Given the description of an element on the screen output the (x, y) to click on. 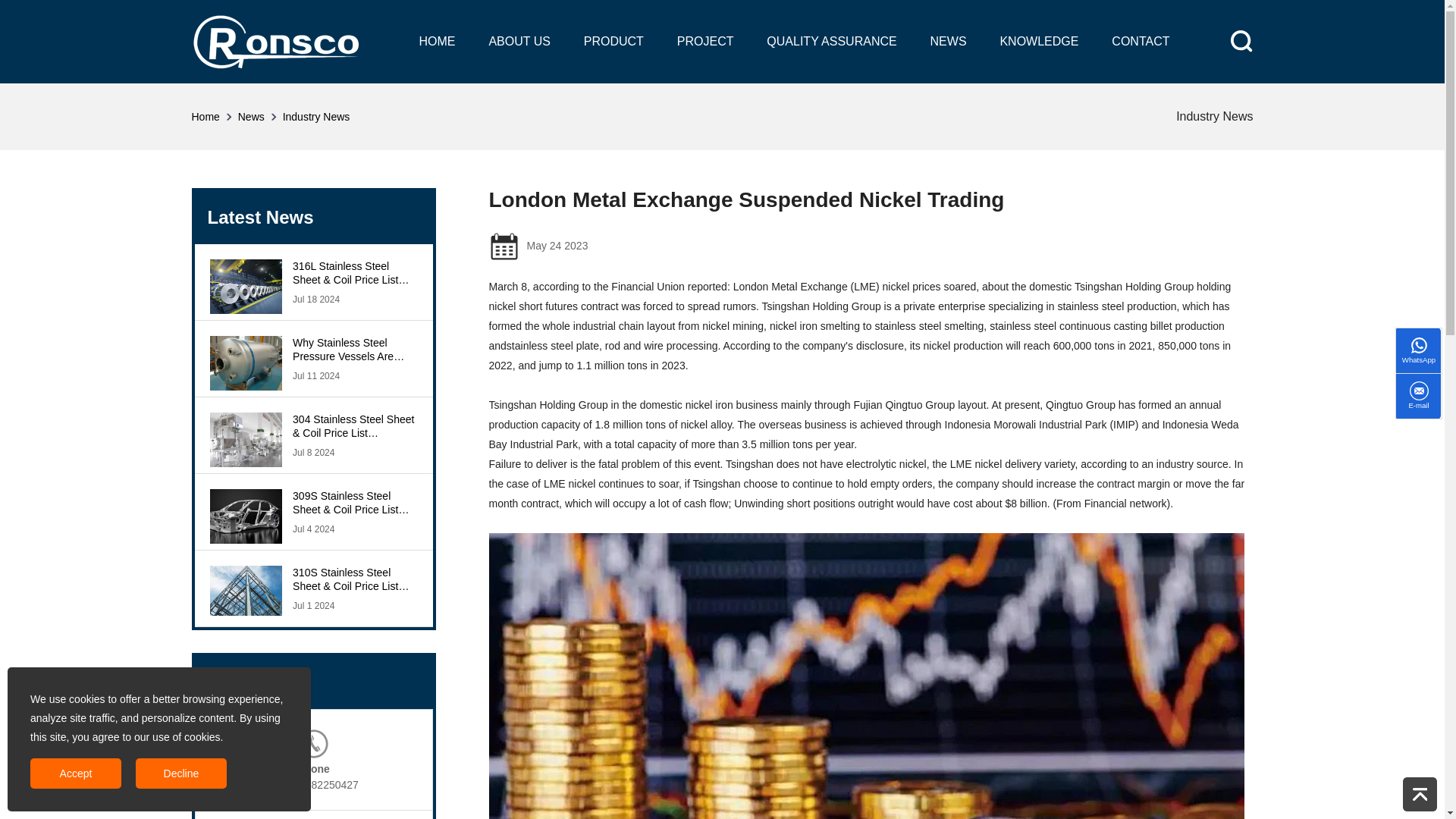
PRODUCT (613, 41)
ABOUT US (518, 41)
PROJECT (705, 41)
QUALITY ASSURANCE (831, 41)
NEWS (948, 41)
KNOWLEDGE (1038, 41)
CONTACT (1140, 41)
HOME (436, 41)
